Given the description of an element on the screen output the (x, y) to click on. 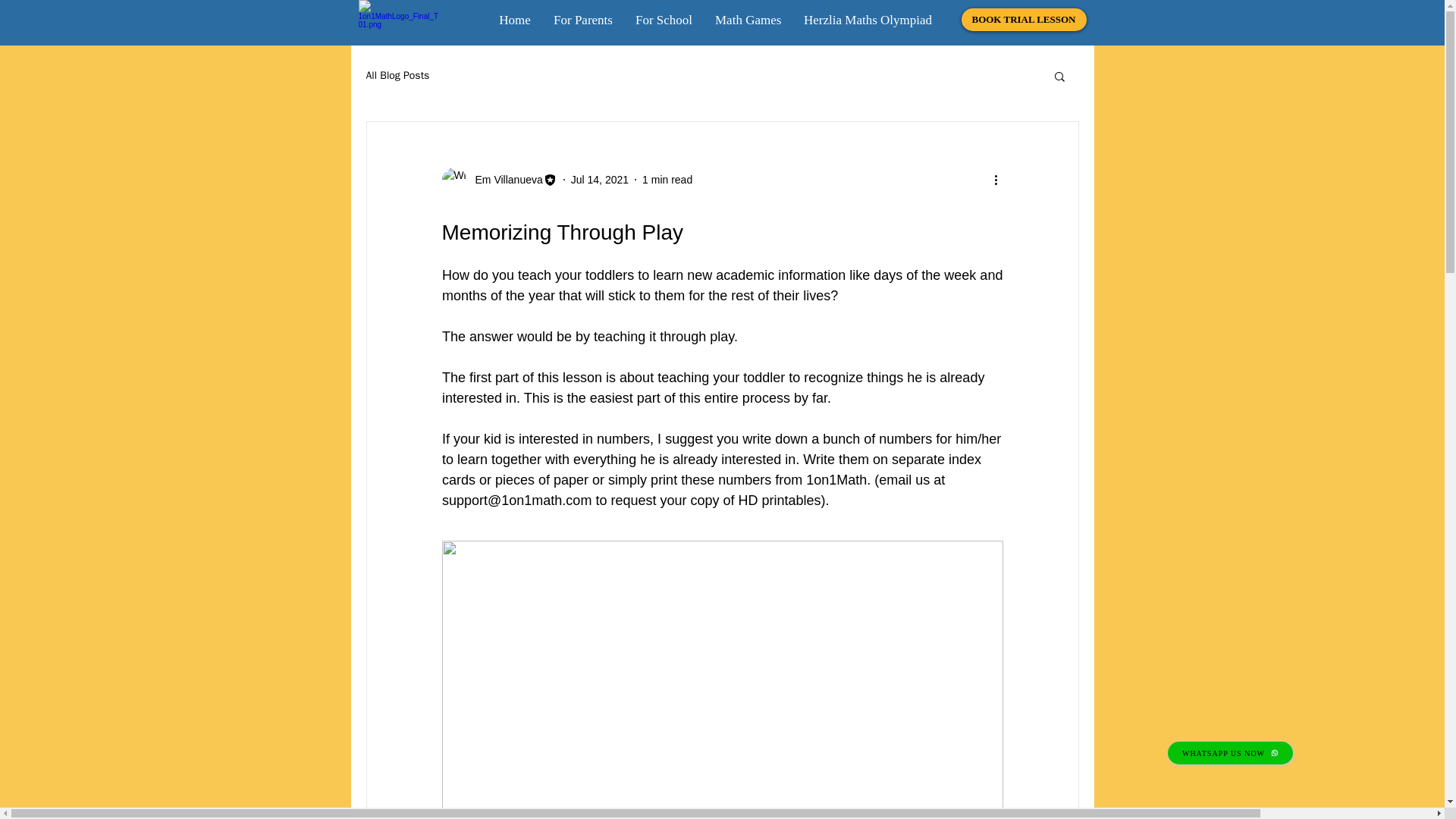
1 min read (667, 178)
For Parents (582, 19)
Herzlia Maths Olympiad (867, 19)
Em Villanueva (503, 179)
Jul 14, 2021 (599, 178)
All Blog Posts (397, 75)
Home (514, 19)
Em Villanueva (498, 179)
For School (663, 19)
Math Games (747, 19)
WHATSAPP US NOW (1229, 753)
BOOK TRIAL LESSON (1023, 19)
